Given the description of an element on the screen output the (x, y) to click on. 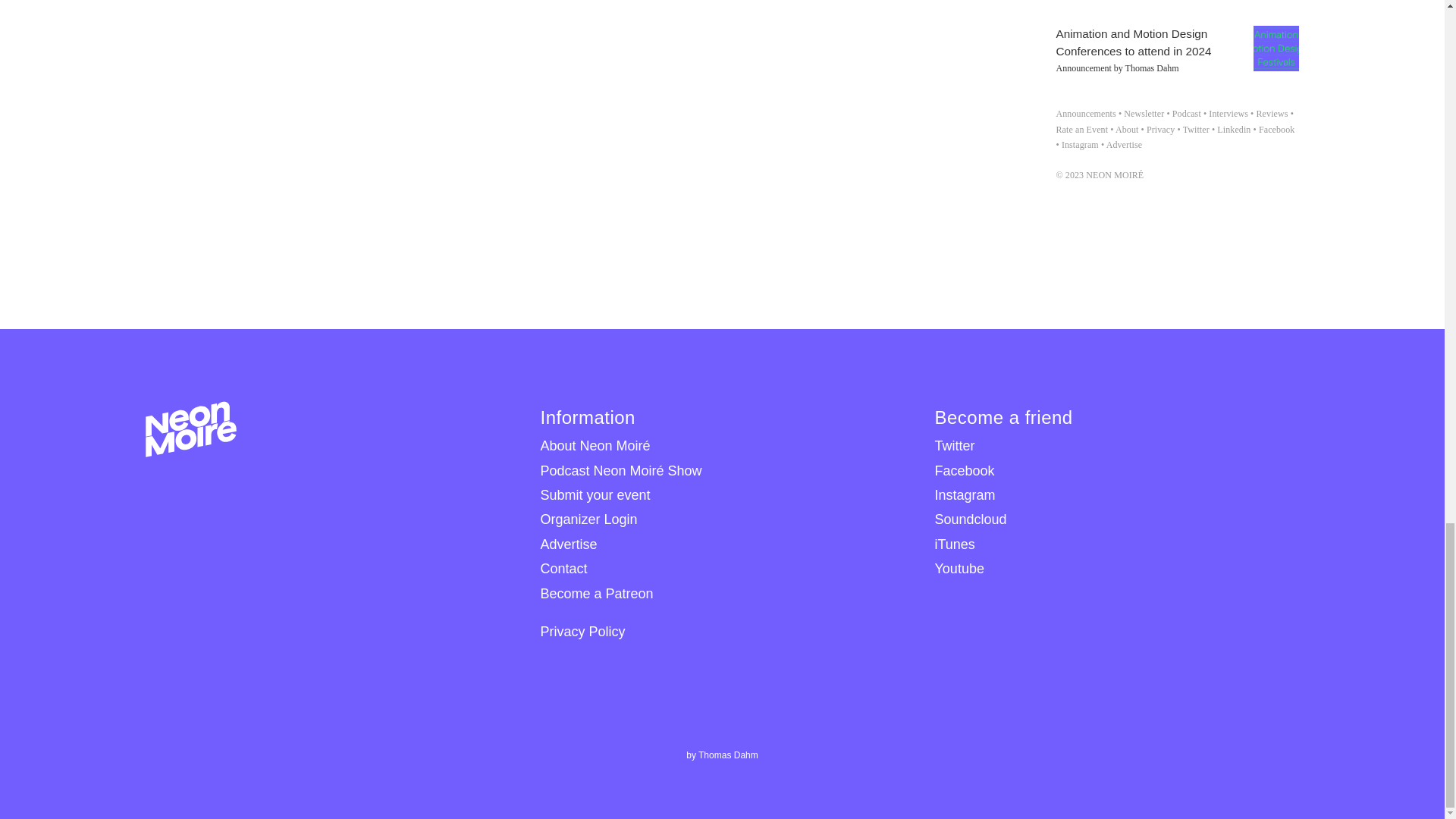
Announcements (1085, 113)
